Given the description of an element on the screen output the (x, y) to click on. 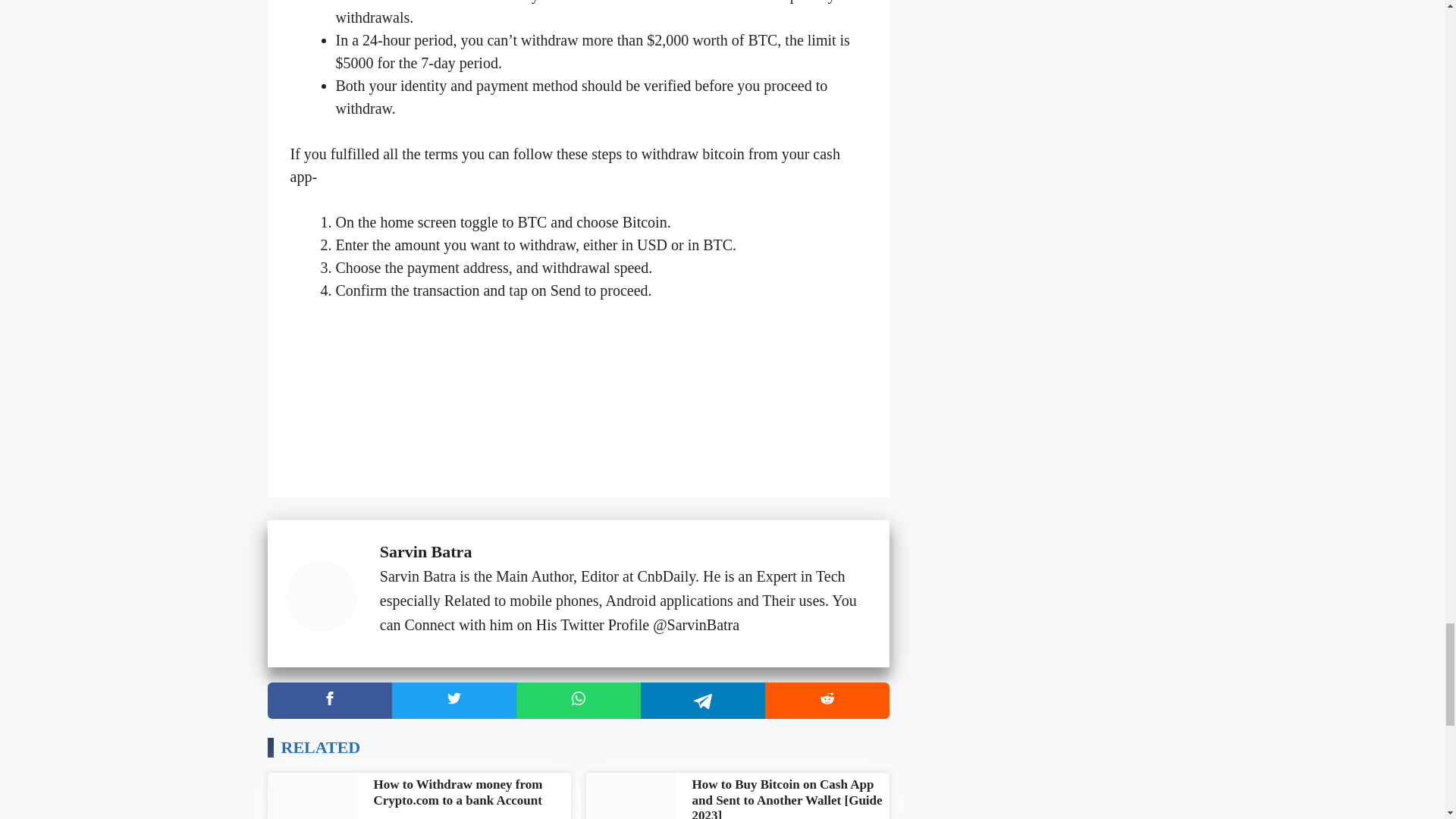
How to Withdraw money from Crypto.com to a bank Account (456, 791)
